Given the description of an element on the screen output the (x, y) to click on. 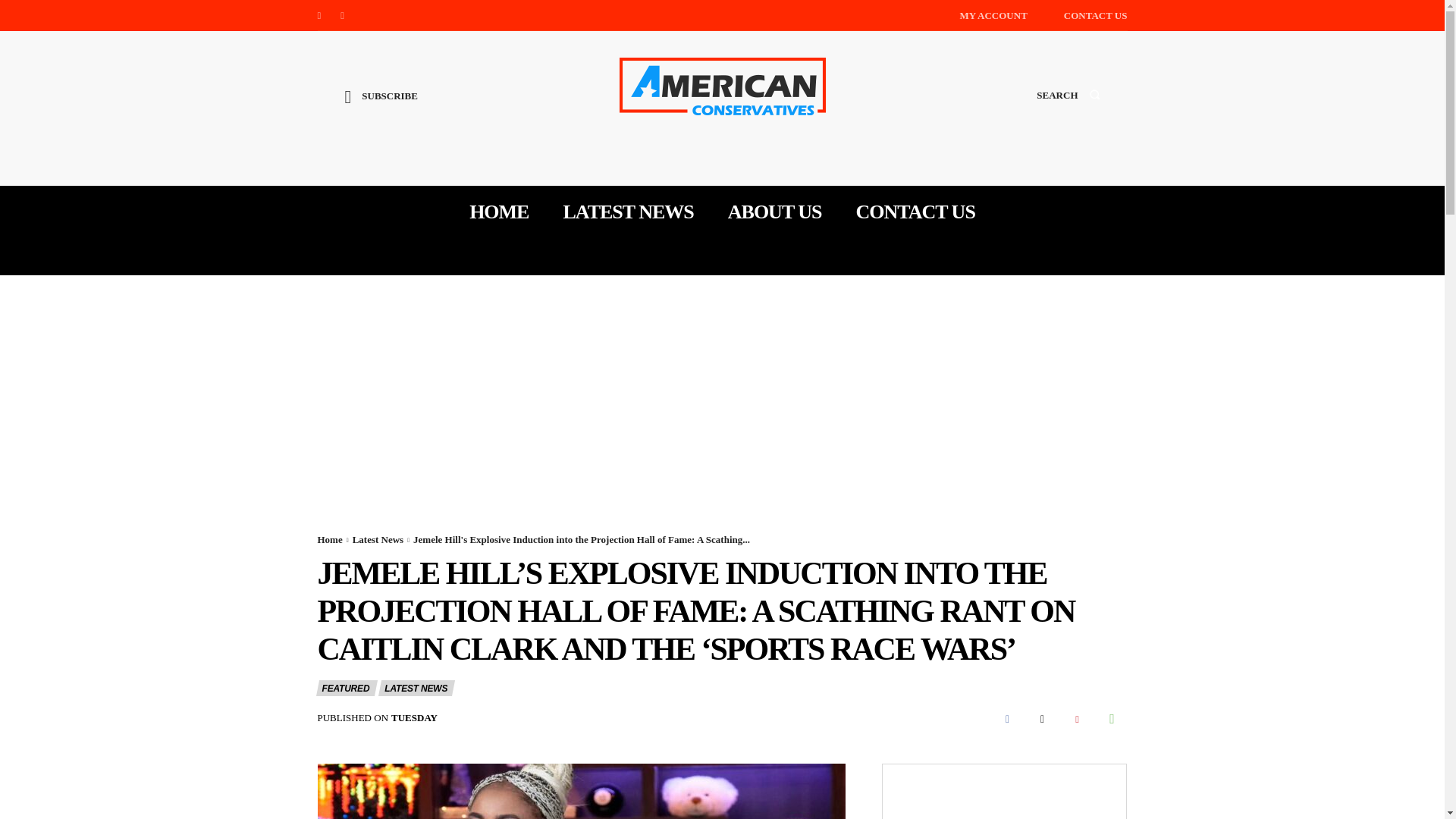
Facebook (318, 15)
Home (329, 539)
LATEST NEWS (416, 688)
My Account (992, 15)
LATEST NEWS (627, 212)
CONTACT US (915, 212)
CONTACT US (1095, 15)
Subscribe (380, 107)
MY ACCOUNT (992, 15)
SEARCH (1067, 109)
